Given the description of an element on the screen output the (x, y) to click on. 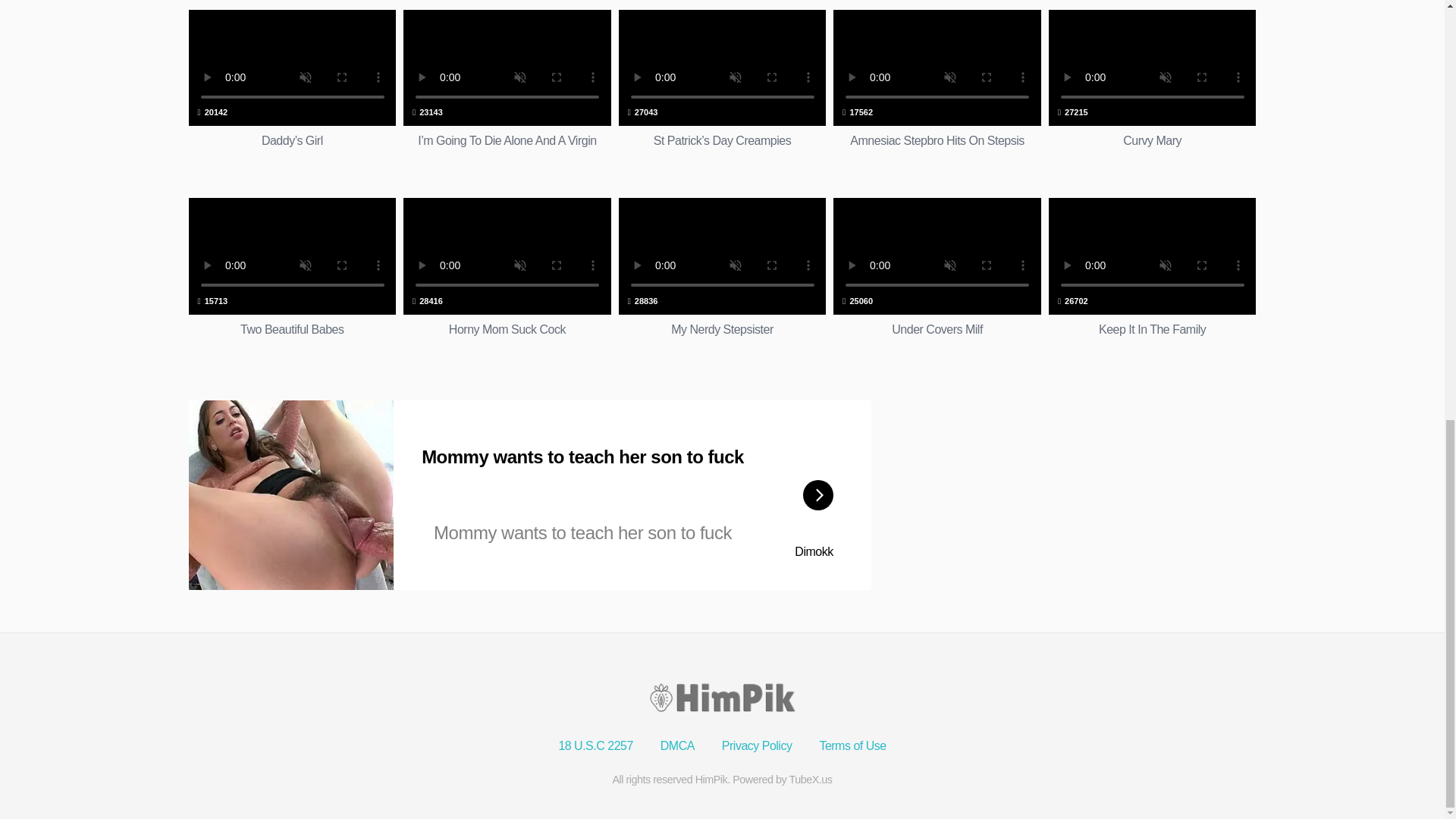
Curvy Mary (936, 88)
My Nerdy Stepsister (1152, 88)
18 U.S.C 2257 (936, 277)
Amnesiac Stepbro Hits On Stepsis (722, 277)
Two Beautiful Babes (594, 745)
Terms of Use (722, 277)
Horny Mom Suck Cock (936, 88)
DMCA (291, 277)
Under Covers Milf (851, 745)
